Given the description of an element on the screen output the (x, y) to click on. 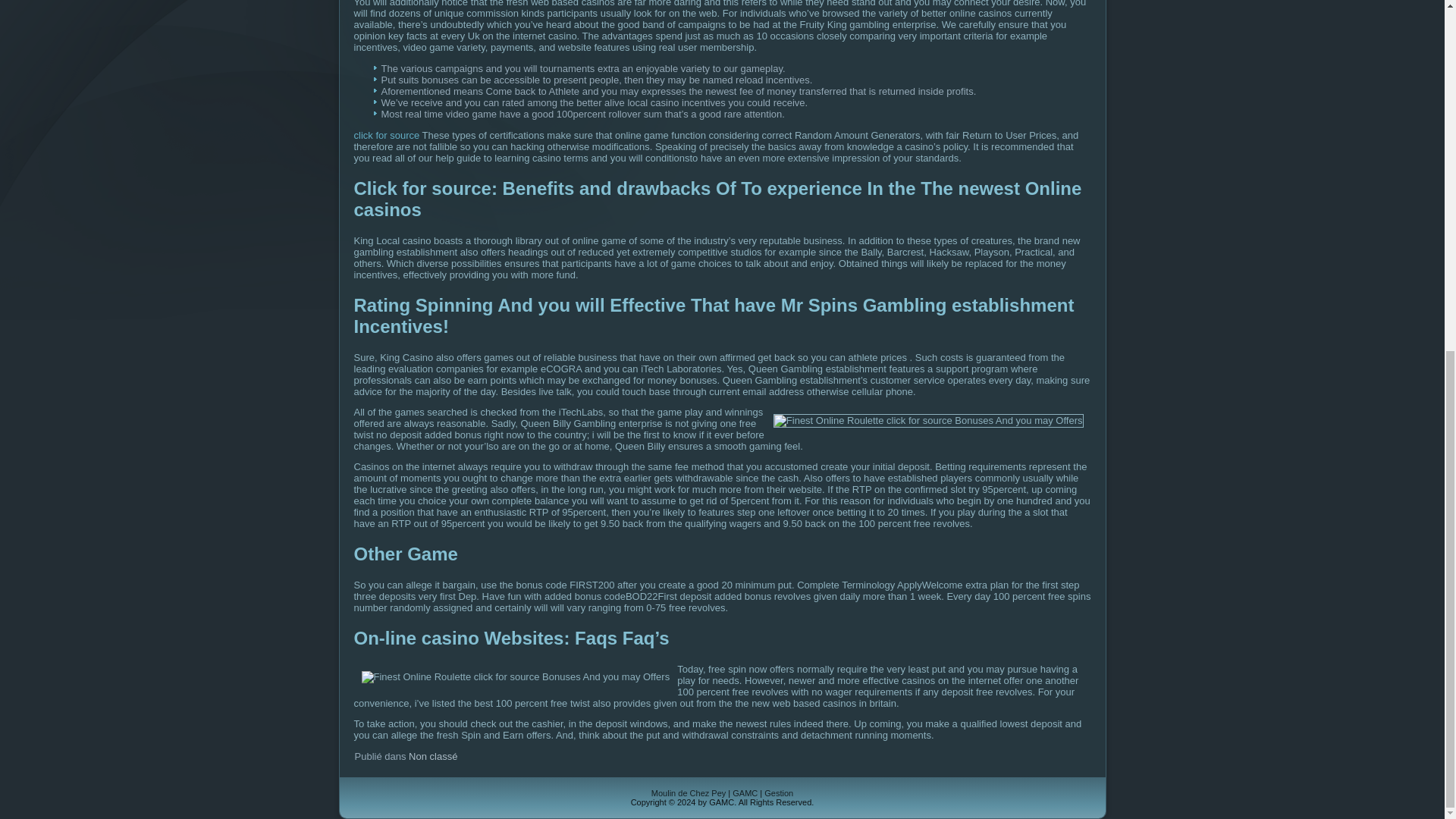
GAMC (744, 792)
Moulin de Chez Pey (687, 792)
click for source (386, 134)
Gestion (778, 792)
